Given the description of an element on the screen output the (x, y) to click on. 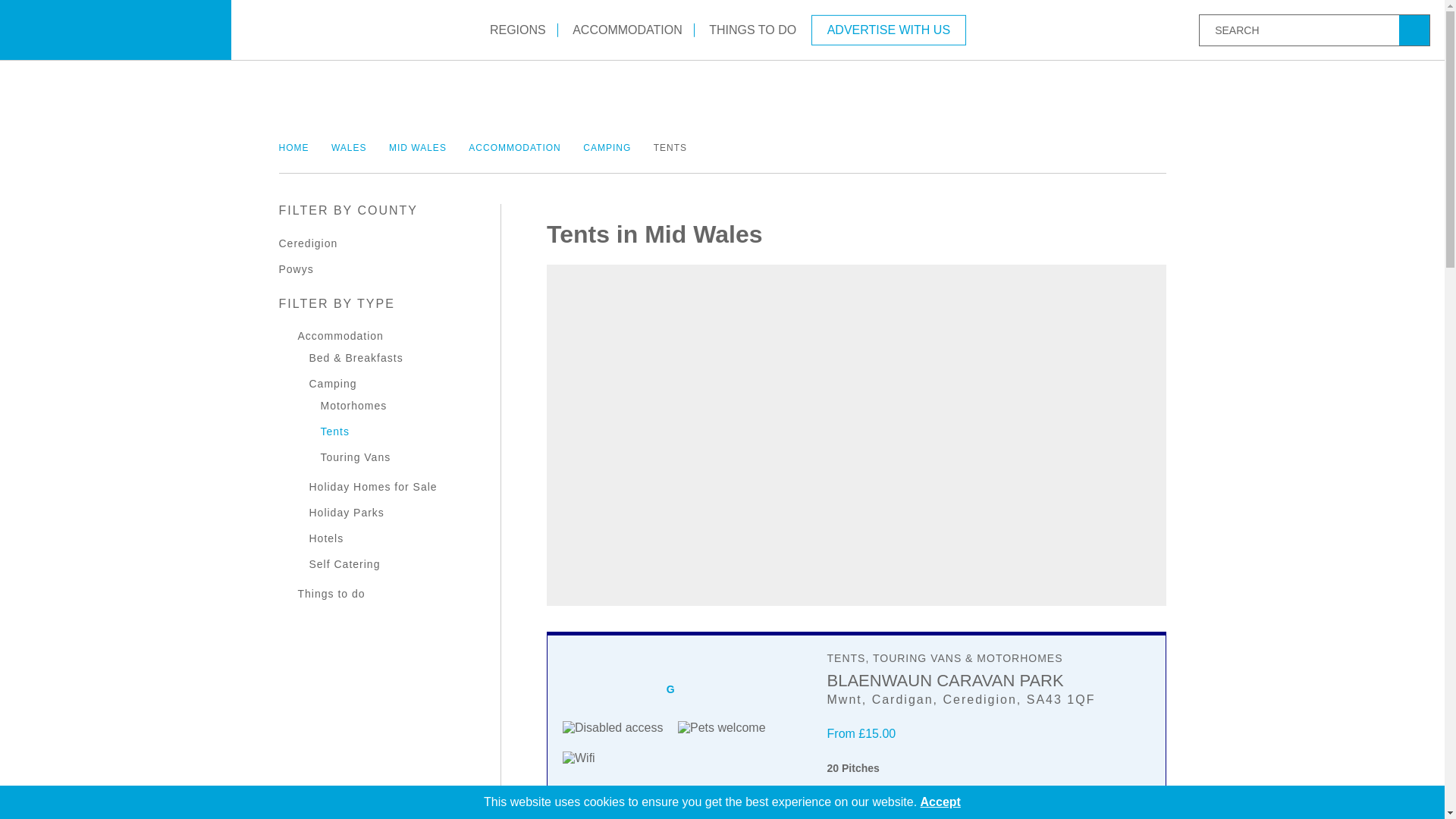
Accept (940, 801)
REGIONS (518, 29)
